Given the description of an element on the screen output the (x, y) to click on. 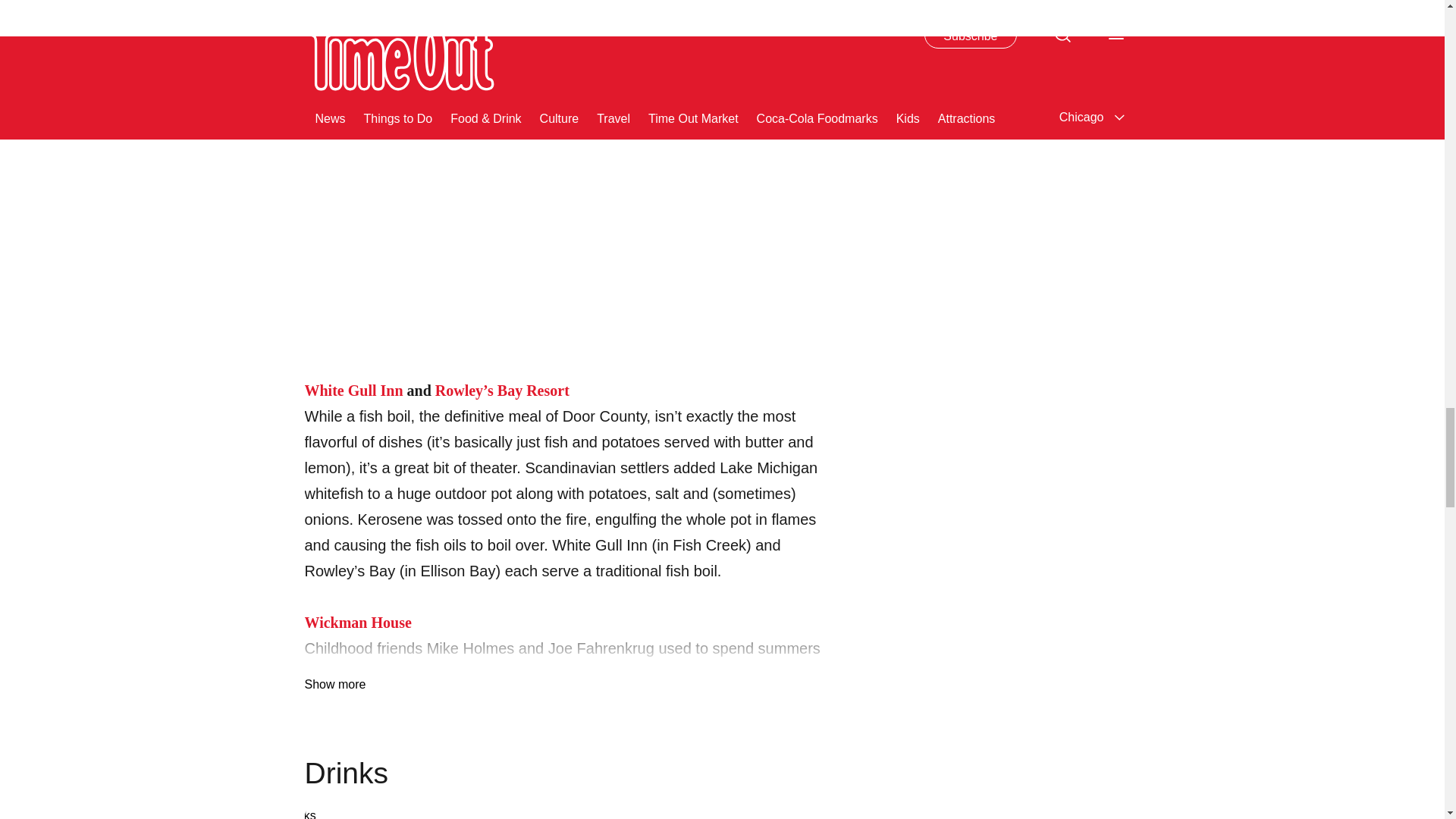
Drinks (568, 812)
